Given the description of an element on the screen output the (x, y) to click on. 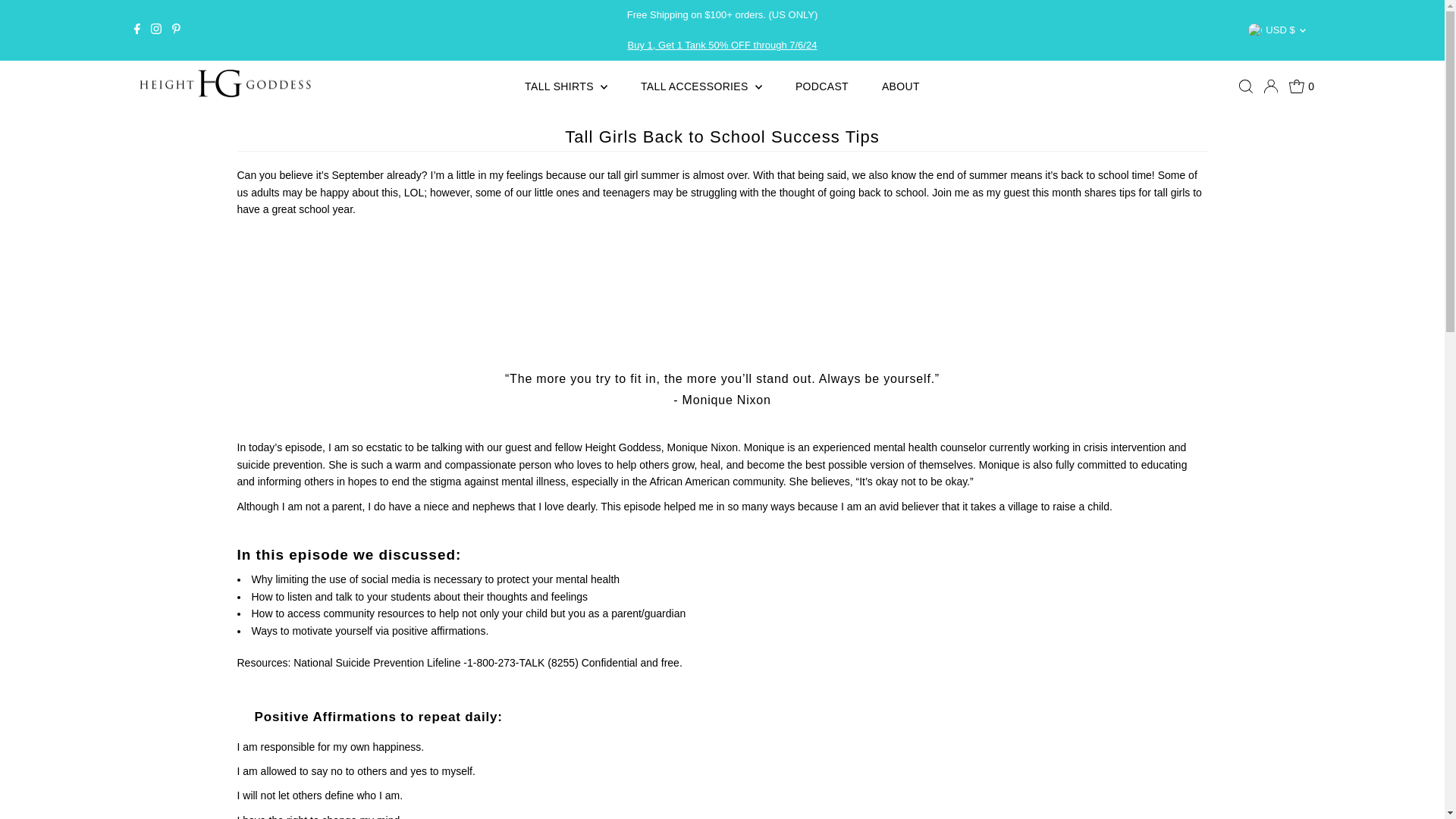
Women's Long Tank Tops (721, 44)
